Given the description of an element on the screen output the (x, y) to click on. 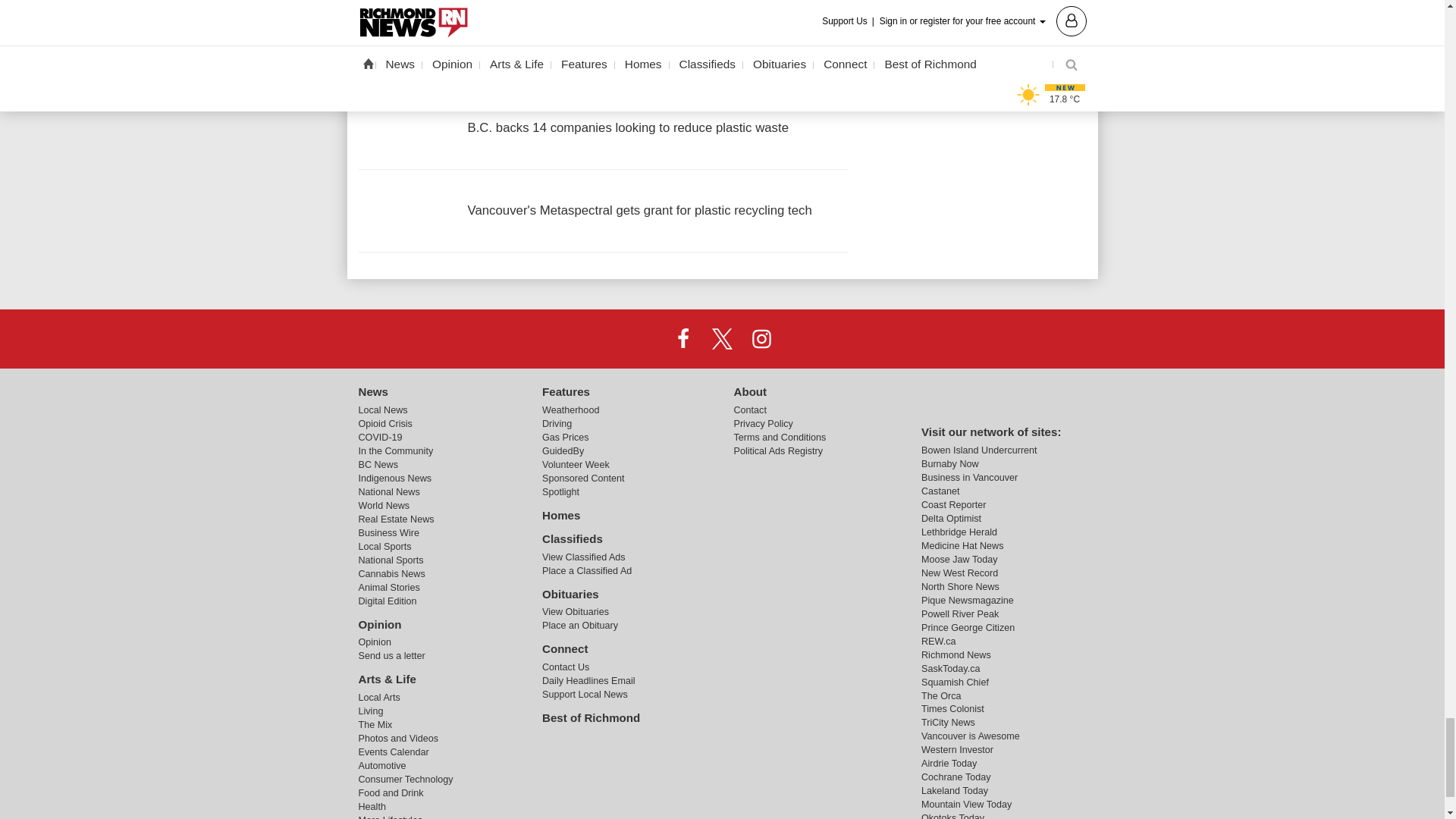
Instagram (760, 338)
Facebook (683, 338)
X (721, 338)
